Given the description of an element on the screen output the (x, y) to click on. 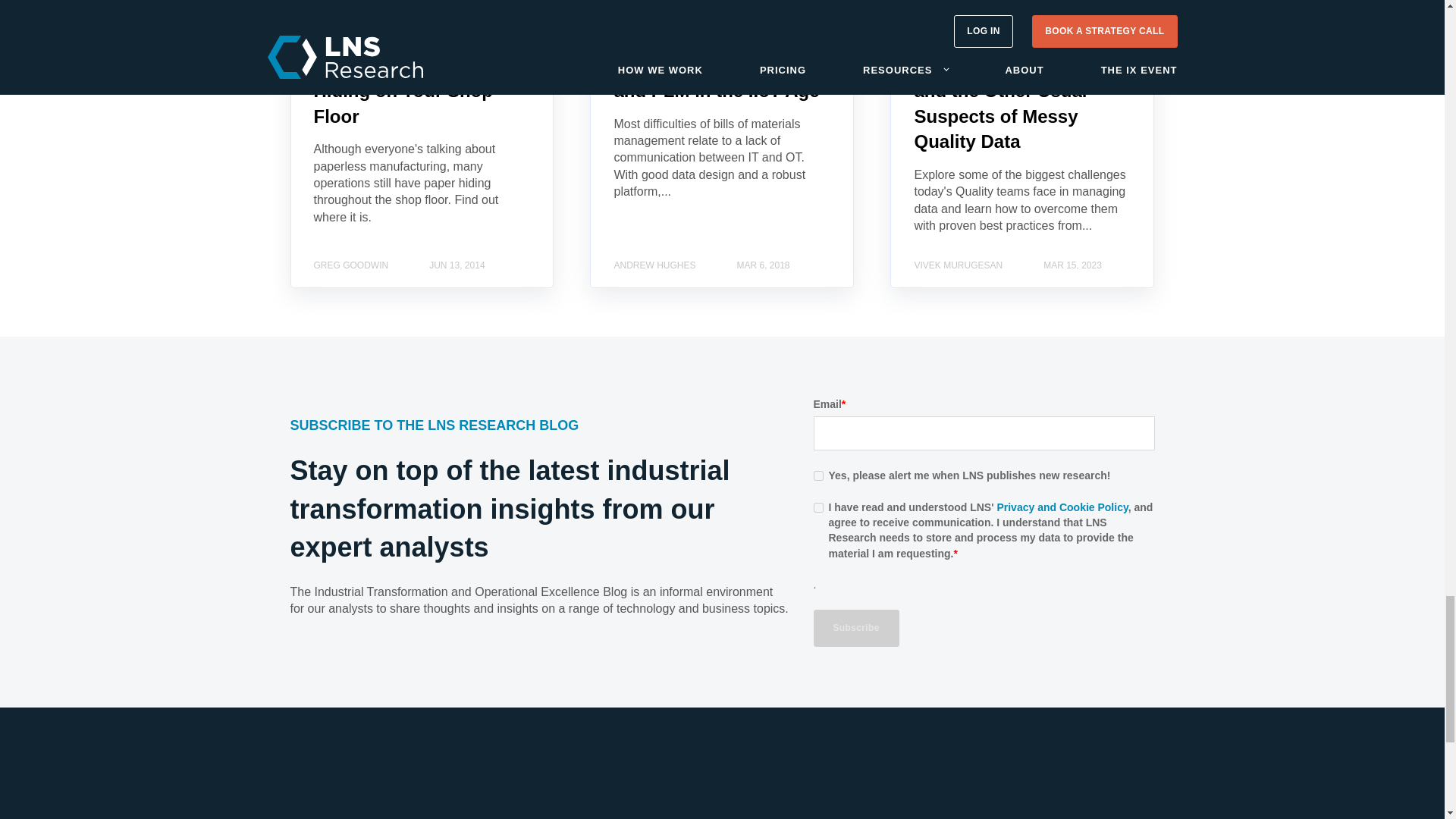
true (817, 507)
Subscribe (855, 628)
true (817, 475)
